Given the description of an element on the screen output the (x, y) to click on. 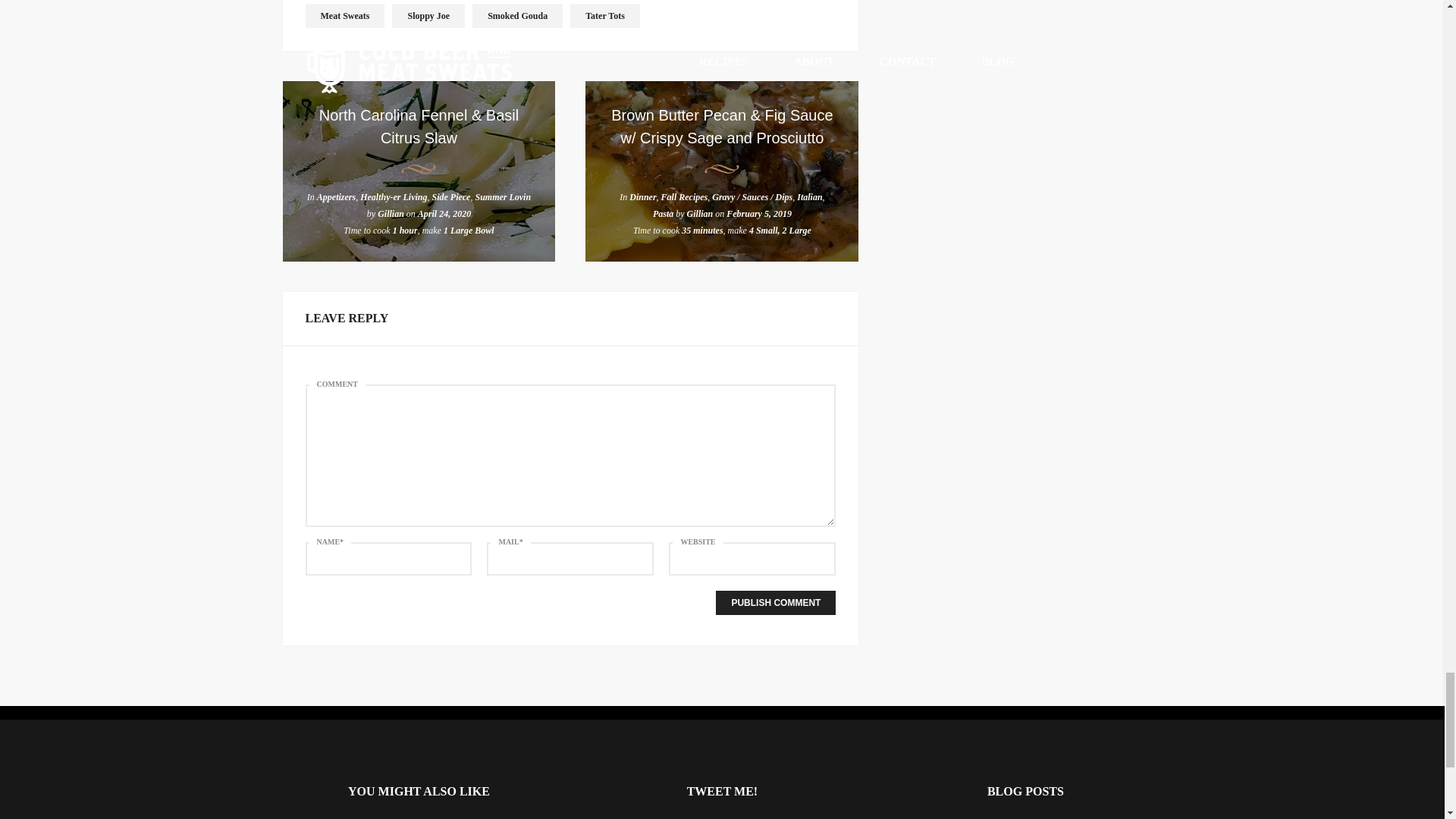
Publish Comment (775, 602)
